Given the description of an element on the screen output the (x, y) to click on. 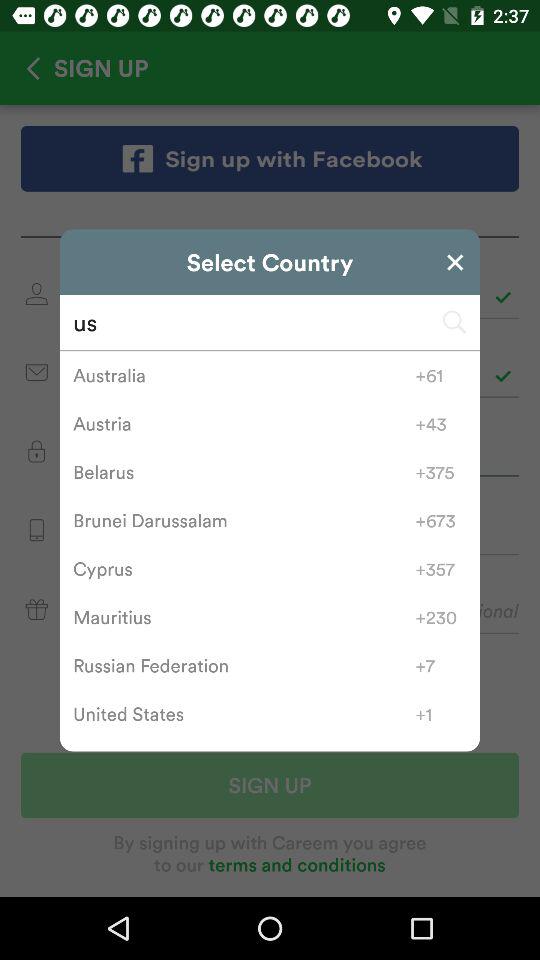
launch the icon to the left of the +230 (244, 617)
